Given the description of an element on the screen output the (x, y) to click on. 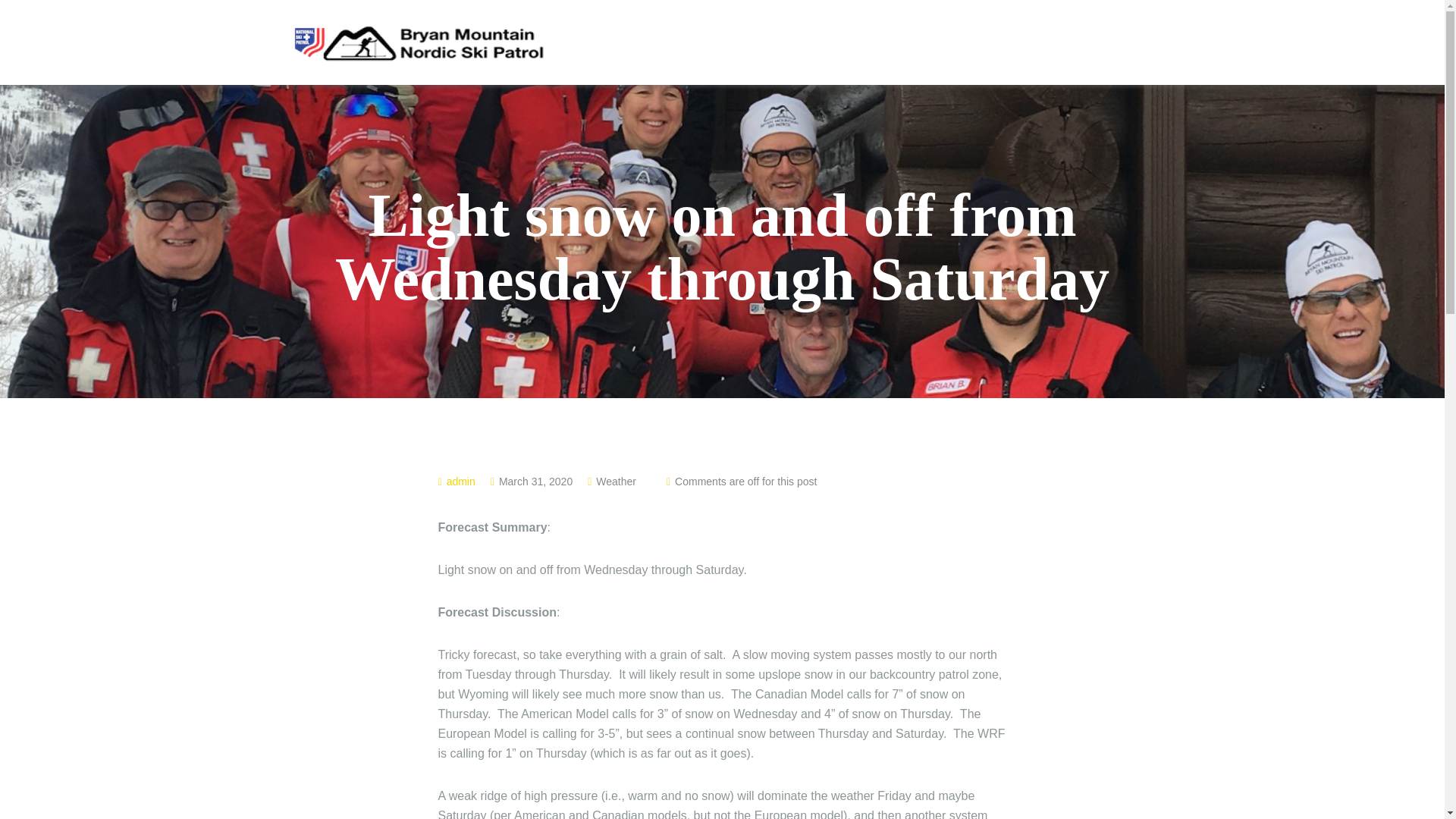
Members (1044, 44)
Calendar (1129, 43)
Home (813, 44)
Join (881, 44)
BMNSP (416, 41)
Courses (957, 44)
